Given the description of an element on the screen output the (x, y) to click on. 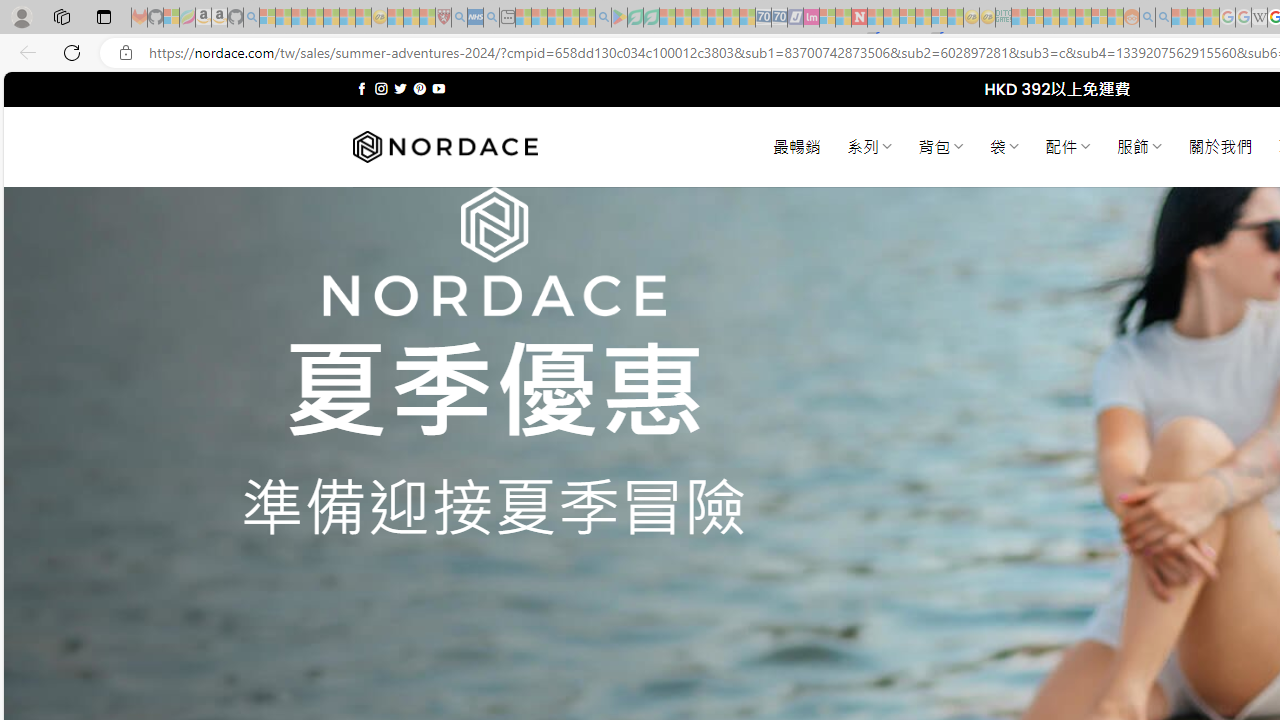
google - Search - Sleeping (603, 17)
Bluey: Let's Play! - Apps on Google Play - Sleeping (619, 17)
